Given the description of an element on the screen output the (x, y) to click on. 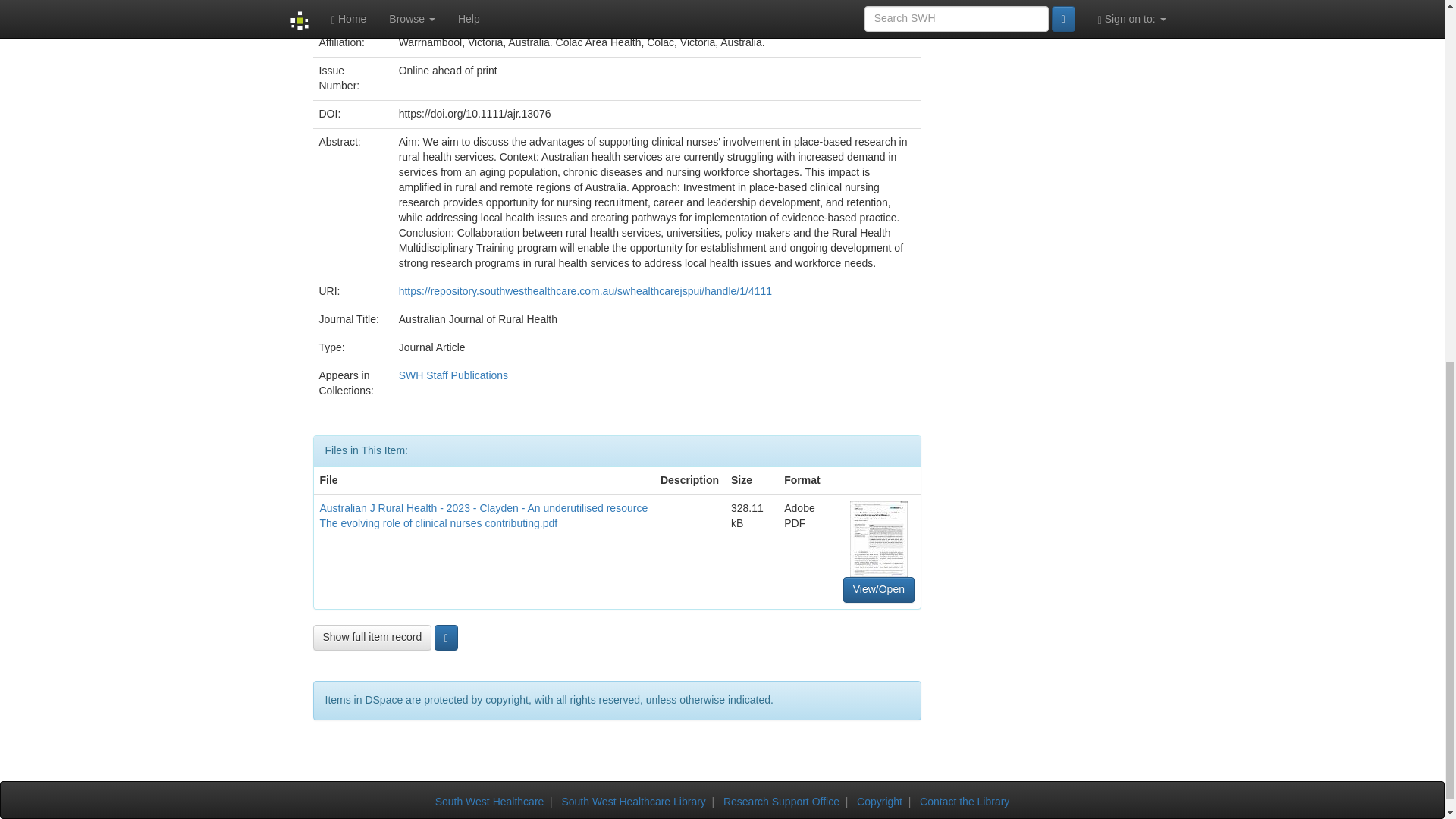
SWH Staff Publications (453, 375)
Show full item record (371, 637)
